Given the description of an element on the screen output the (x, y) to click on. 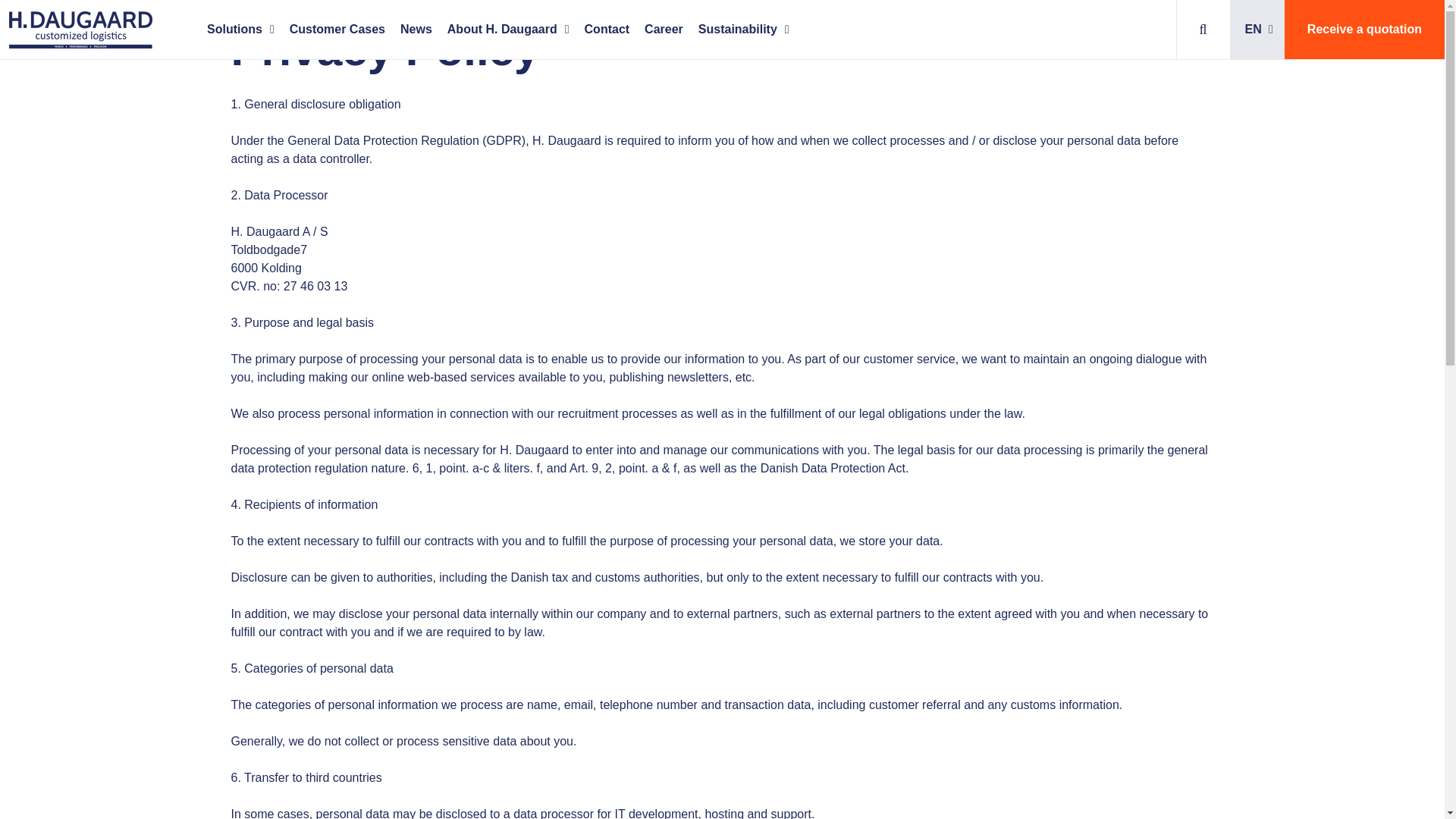
About H. Daugaard (507, 29)
Sustainability (743, 29)
Career (663, 29)
Customer Cases (337, 29)
EN (1257, 29)
Contact (606, 29)
Solutions (240, 29)
